Given the description of an element on the screen output the (x, y) to click on. 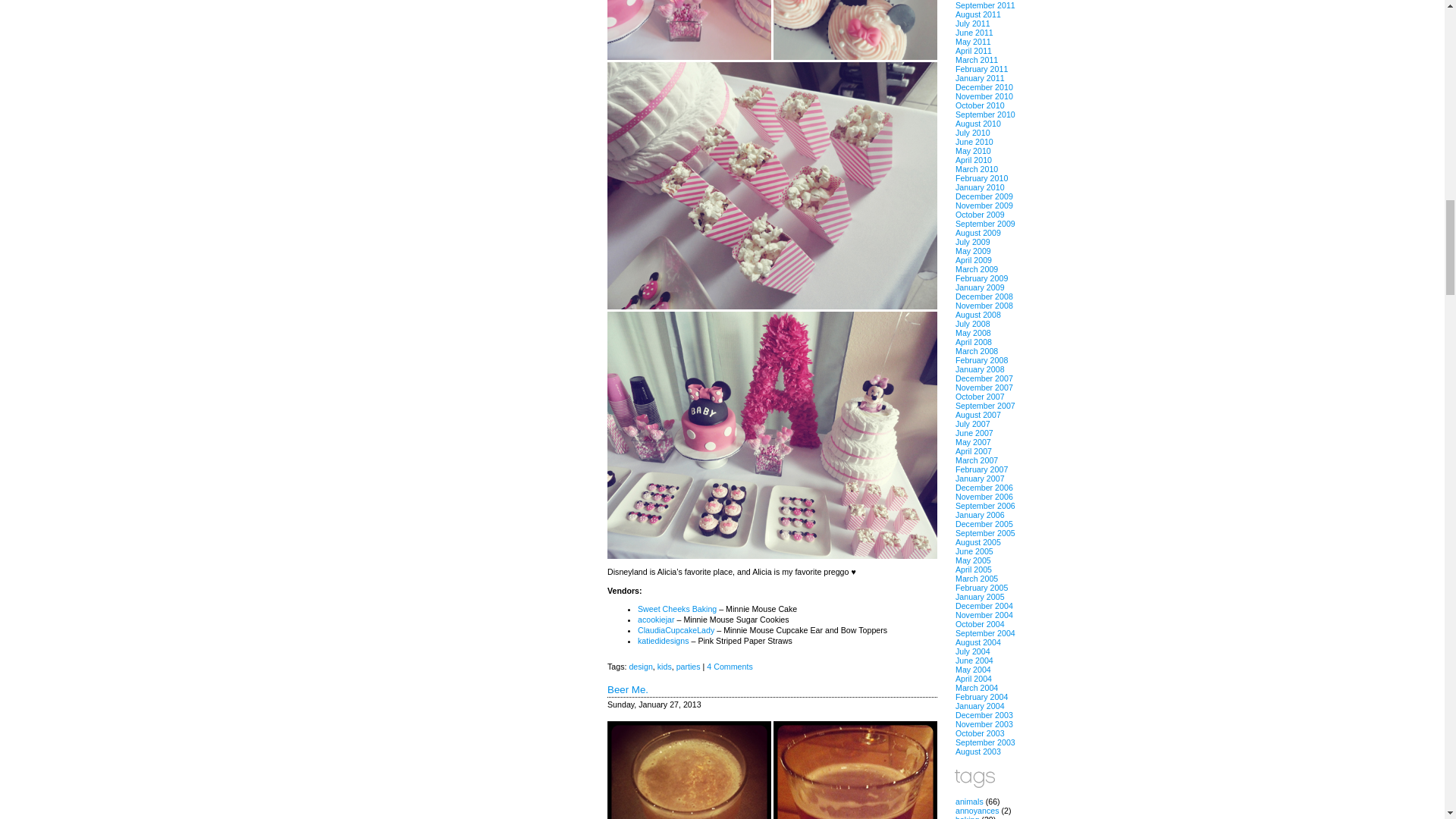
acookiejar (656, 619)
parties (688, 665)
4 Comments (729, 665)
Beer Me. (627, 689)
design (640, 665)
Sweet Cheeks Baking (676, 608)
kids (664, 665)
ClaudiaCupcakeLady (675, 629)
katiedidesigns (662, 640)
